Given the description of an element on the screen output the (x, y) to click on. 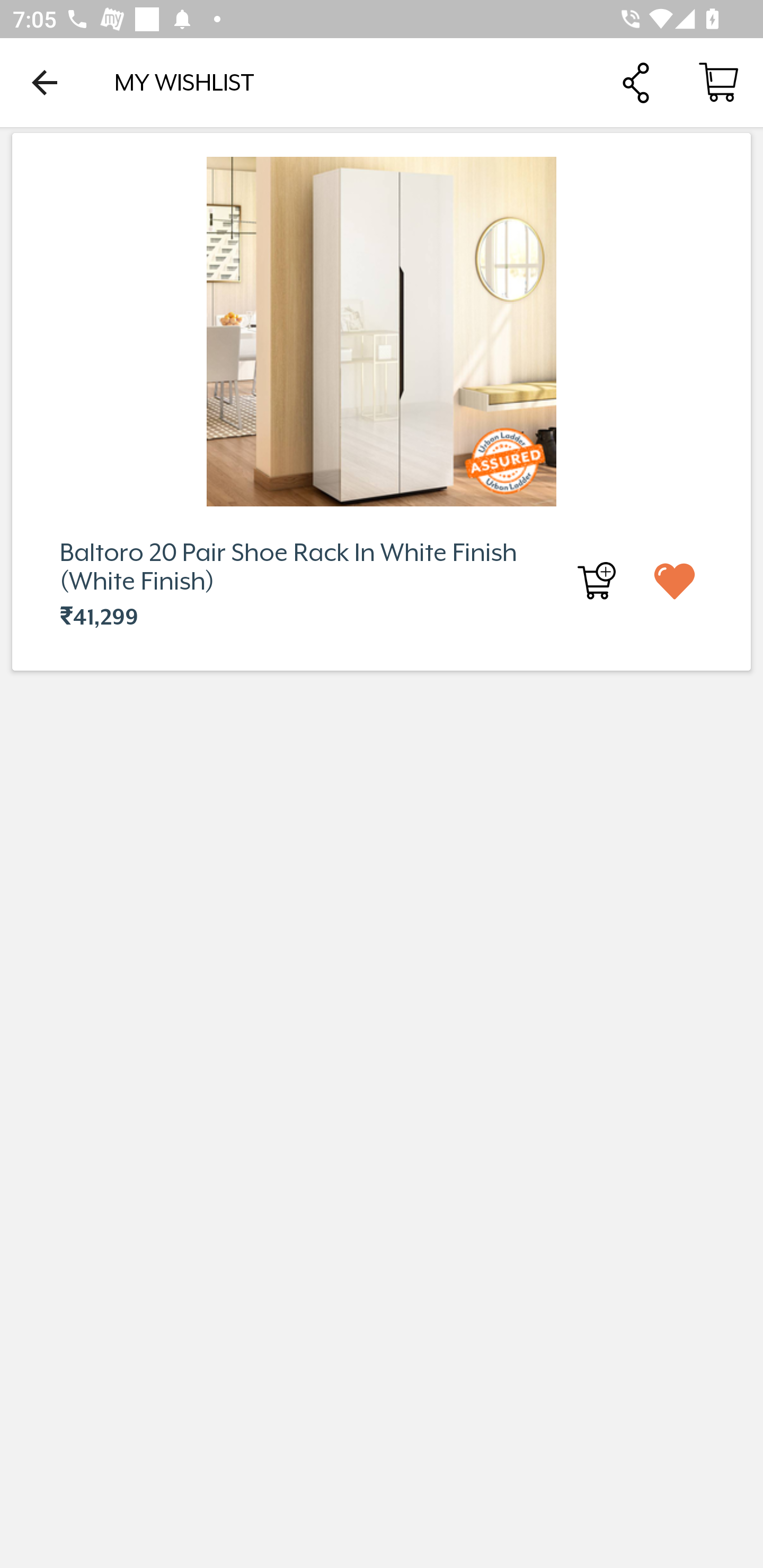
Navigate up (44, 82)
Share Wishlist (635, 81)
Cart (718, 81)
 (690, 579)
